Given the description of an element on the screen output the (x, y) to click on. 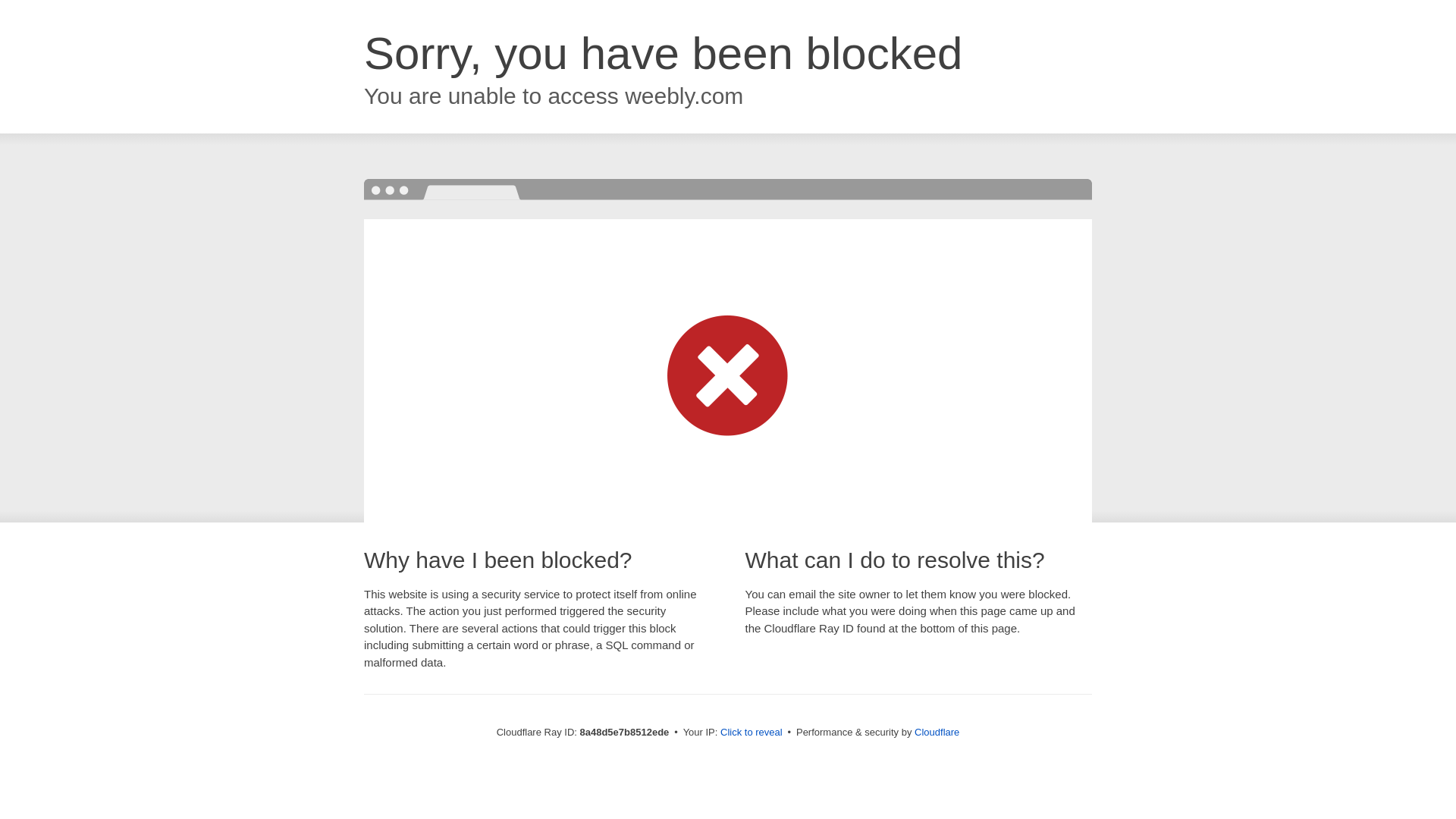
Cloudflare (936, 731)
Click to reveal (751, 732)
